Given the description of an element on the screen output the (x, y) to click on. 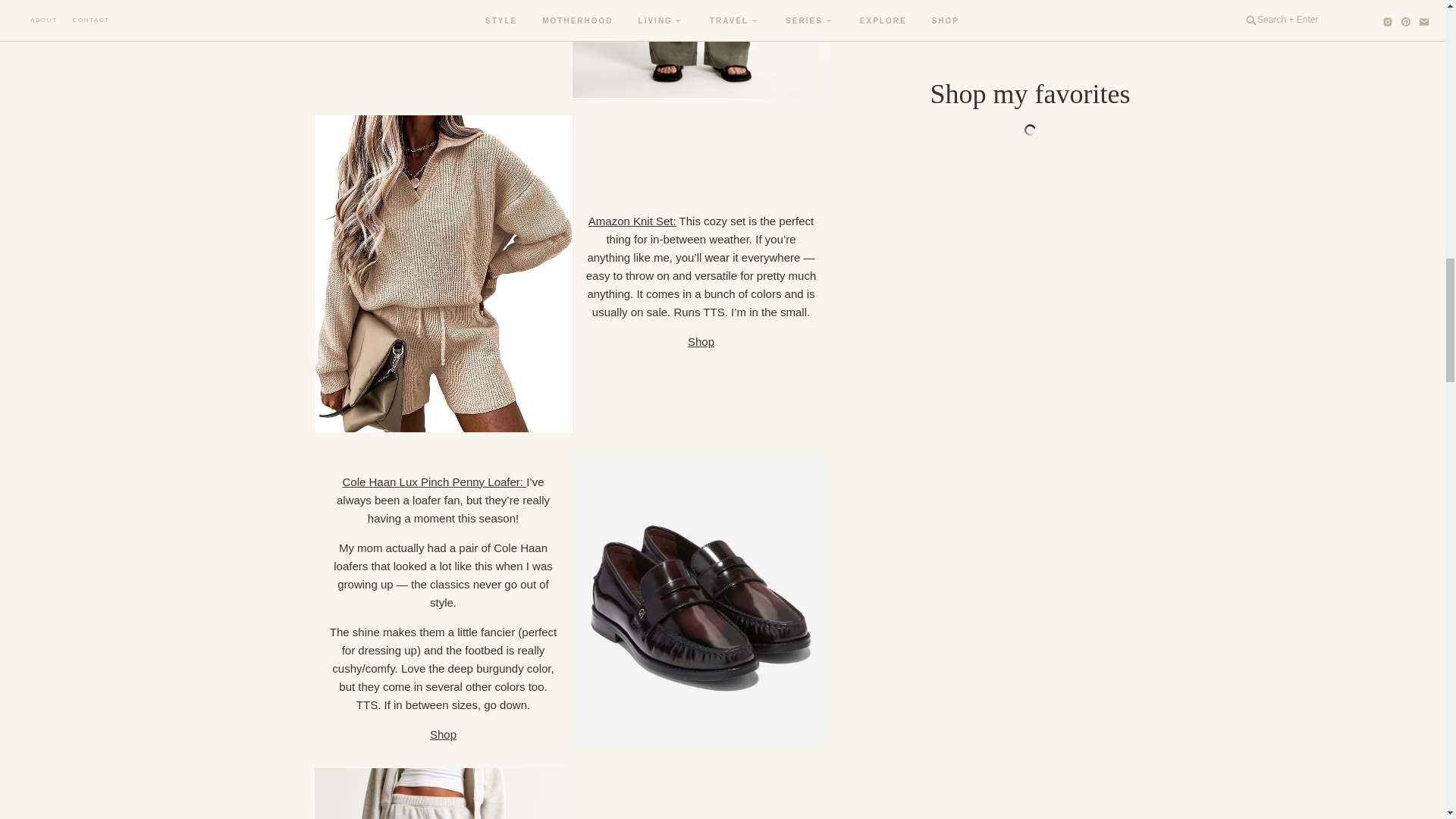
Shop (443, 13)
